Given the description of an element on the screen output the (x, y) to click on. 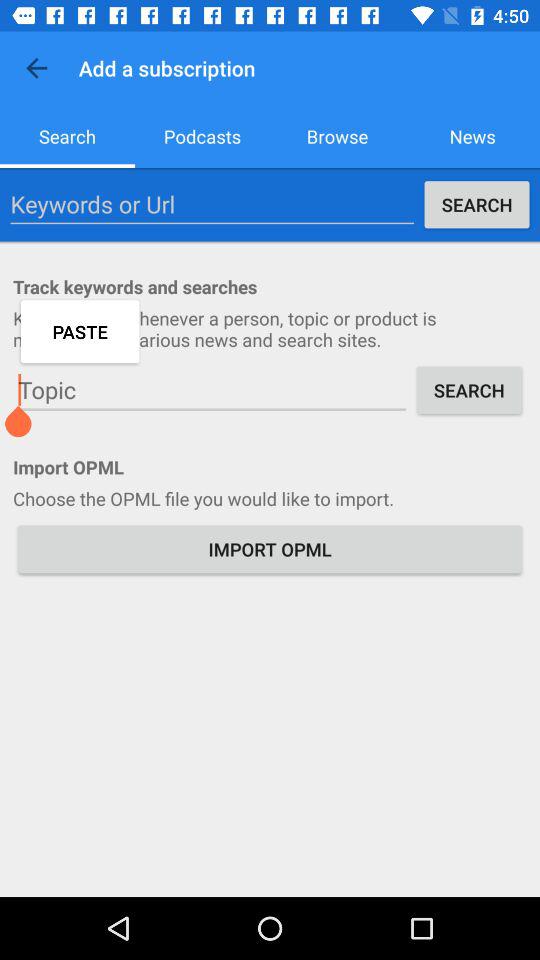
type keywords (212, 204)
